Given the description of an element on the screen output the (x, y) to click on. 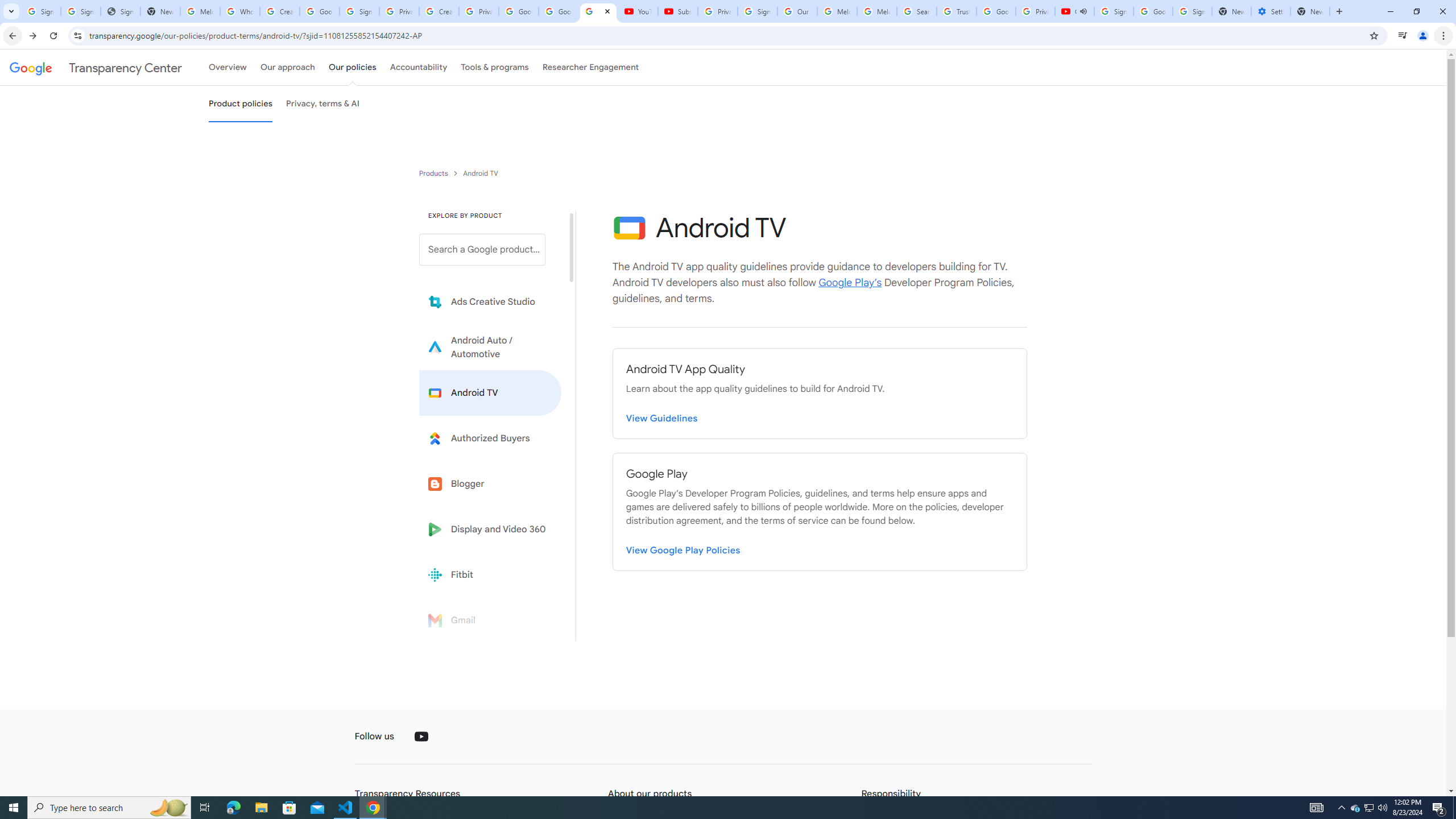
Gmail (490, 619)
Blogger (490, 483)
Learn more about Android TV (490, 393)
Google Cybersecurity Innovations - Google Safety Center (1152, 11)
Trusted Information and Content - Google Safety Center (956, 11)
Gmail (490, 619)
Learn more about Authorized Buyers (490, 438)
YouTube (637, 11)
